Given the description of an element on the screen output the (x, y) to click on. 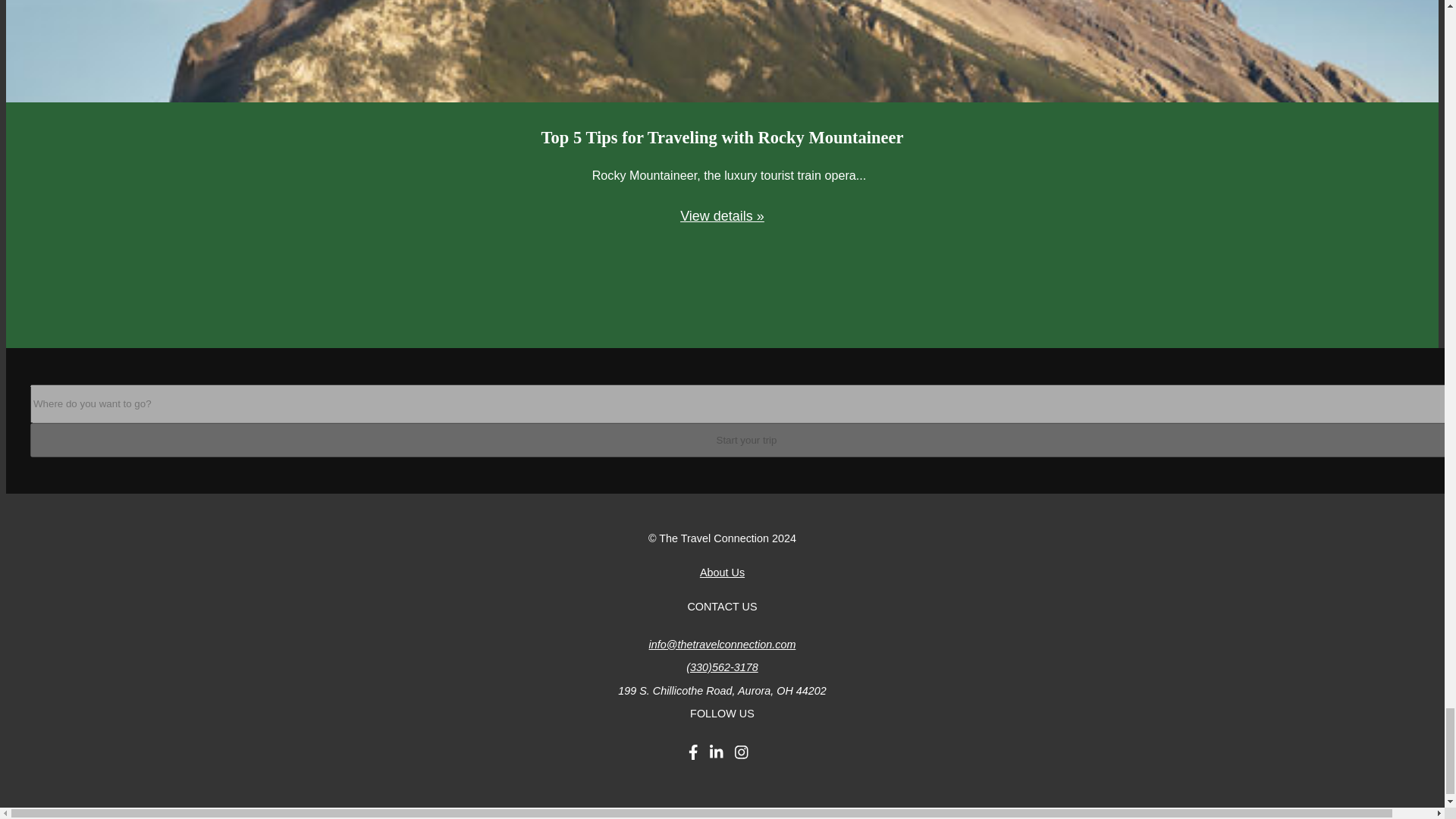
About Us (722, 572)
Start your trip (743, 440)
